Given the description of an element on the screen output the (x, y) to click on. 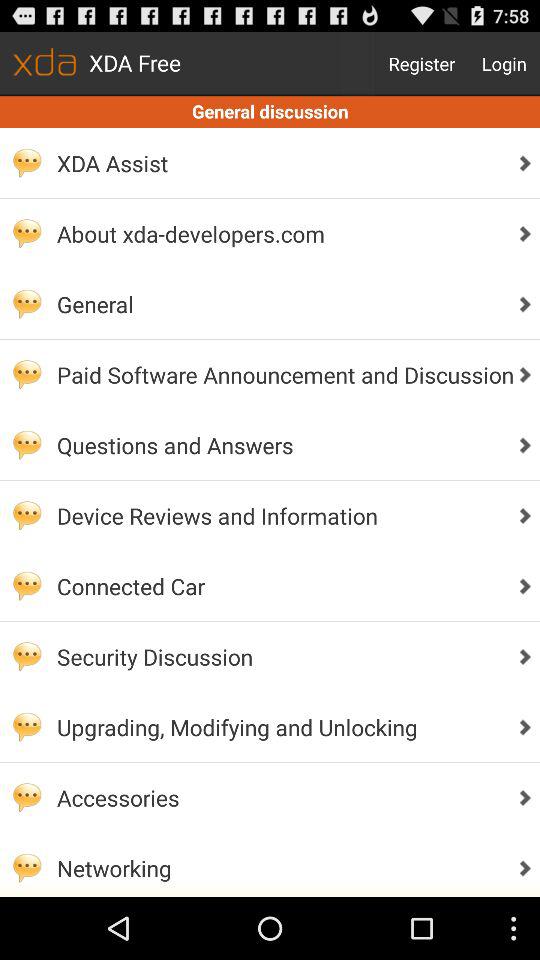
click the device reviews and (280, 515)
